Given the description of an element on the screen output the (x, y) to click on. 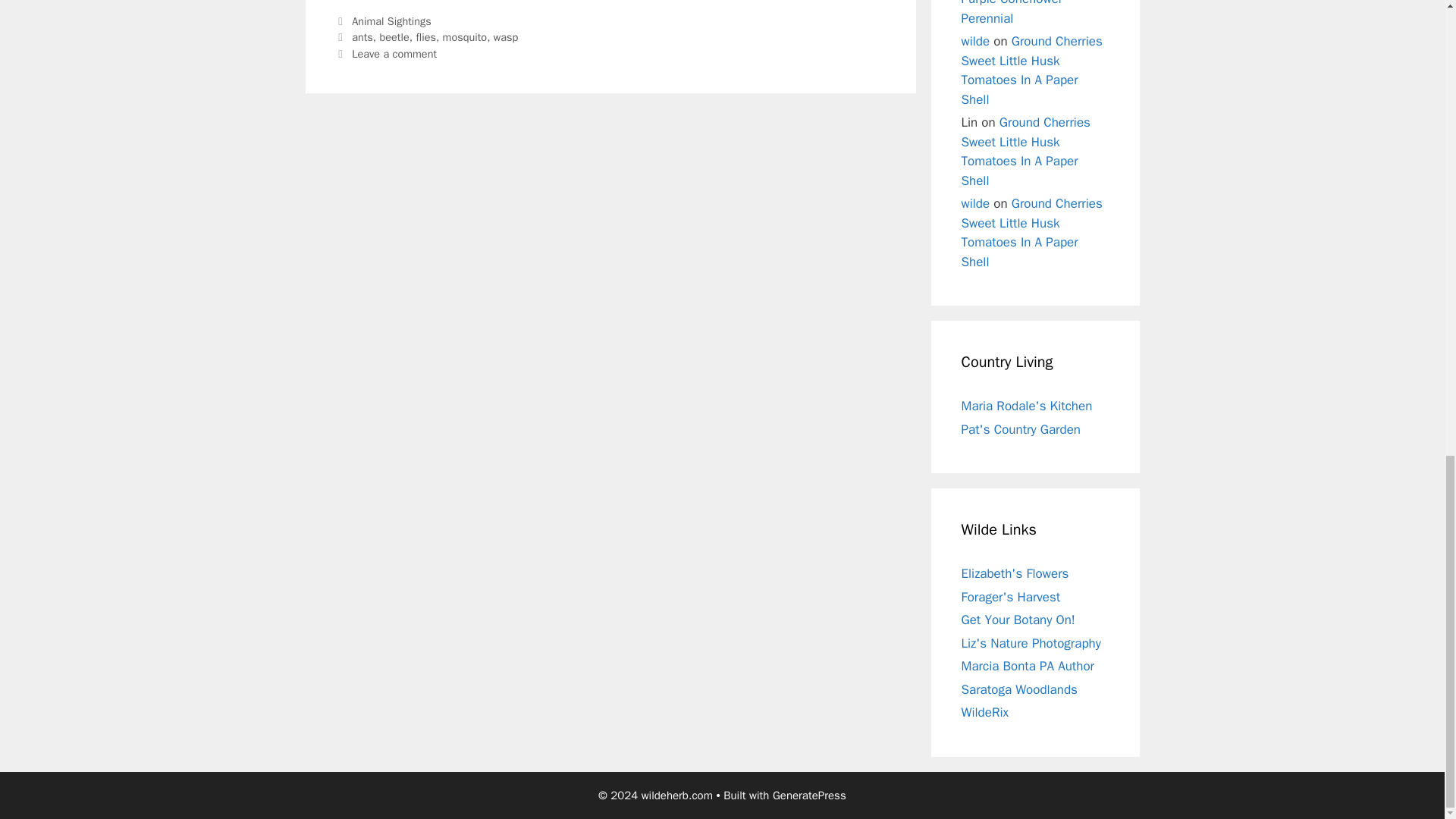
Leave a comment (394, 53)
Echinacea the Purple Coneflower Perennial (1030, 13)
Sam Thayer Wild Food Foraging (1010, 596)
Excellent selection of plants to learn about. (1017, 619)
wilde (975, 41)
Animal Sightings (391, 20)
ants (362, 37)
wasp (505, 37)
mosquito (464, 37)
